Given the description of an element on the screen output the (x, y) to click on. 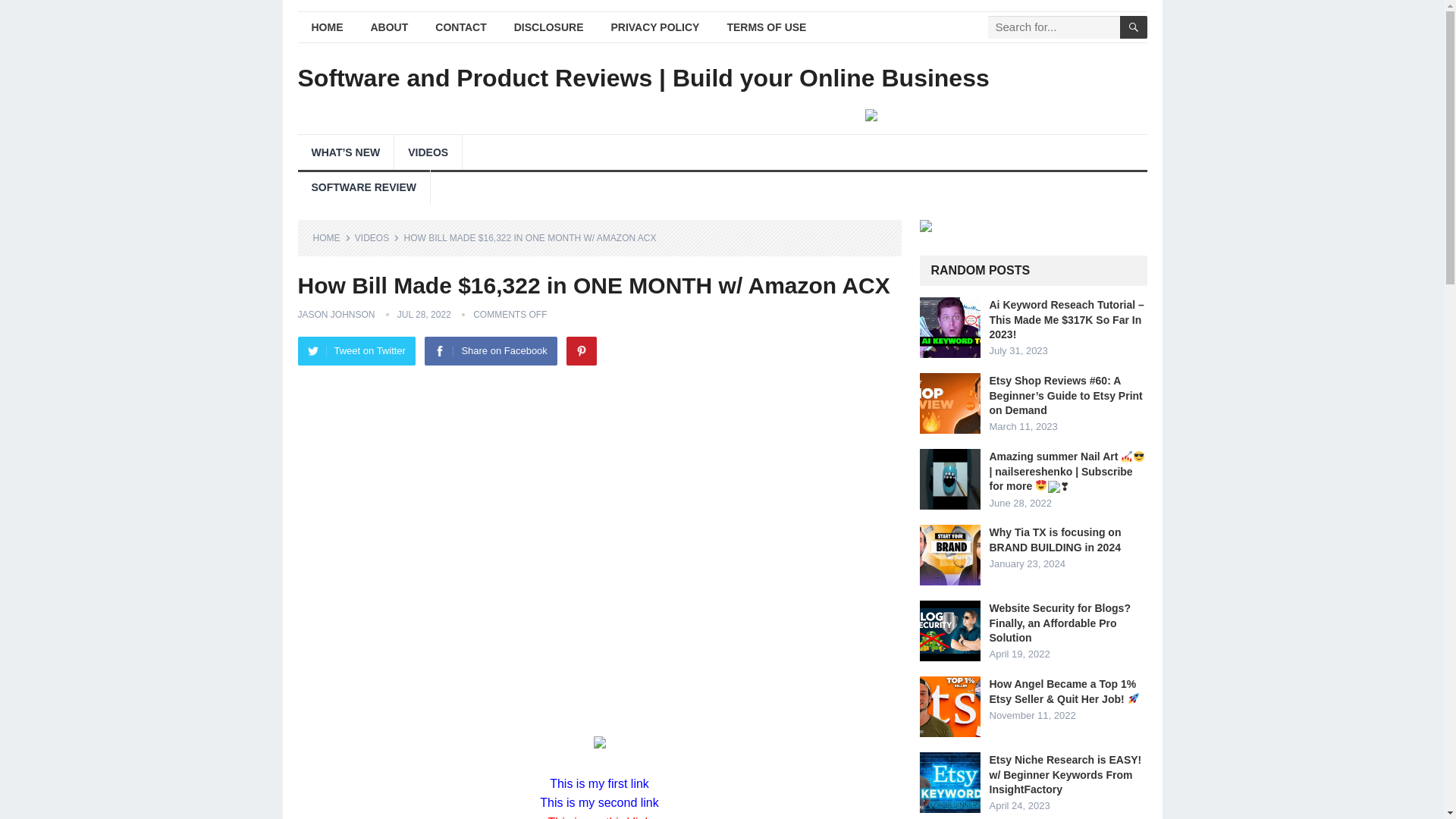
SOFTWARE REVIEW (363, 186)
TERMS OF USE (766, 27)
HOME (326, 27)
VIDEOS (427, 152)
CONTACT (460, 27)
Share on Facebook (490, 350)
PRIVACY POLICY (654, 27)
Why Tia TX is focusing on BRAND BUILDING in 2024 16 (948, 554)
This is my second link (599, 802)
This is my third link (598, 817)
View all posts in Videos (376, 237)
ABOUT (389, 27)
This is my first link (599, 783)
DISCLOSURE (548, 27)
